Given the description of an element on the screen output the (x, y) to click on. 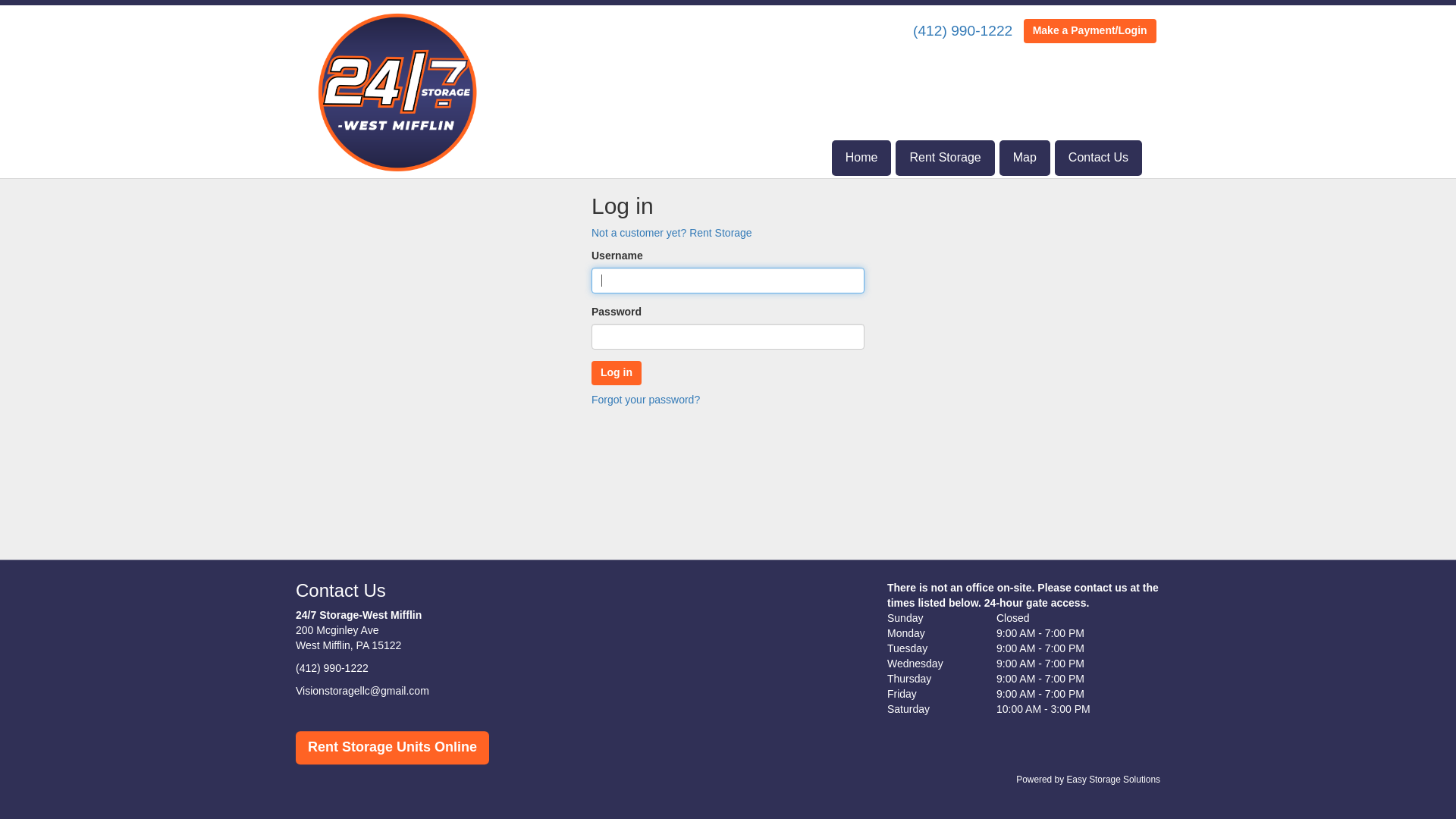
Map Element type: text (1024, 157)
Visionstoragellc@gmail.com Element type: text (362, 691)
Log in Element type: text (616, 372)
Not a customer yet? Rent Storage Element type: text (671, 232)
Rent Storage Element type: text (944, 157)
Home Element type: text (861, 157)
Rent Storage Units Online Element type: text (392, 747)
Forgot your password? Element type: text (645, 399)
Make a Payment/Login Element type: text (1089, 30)
(412) 990-1222 Element type: text (962, 30)
Contact Us Element type: text (1098, 157)
(412) 990-1222 Element type: text (331, 668)
Easy Storage Solutions Element type: text (1113, 779)
